Given the description of an element on the screen output the (x, y) to click on. 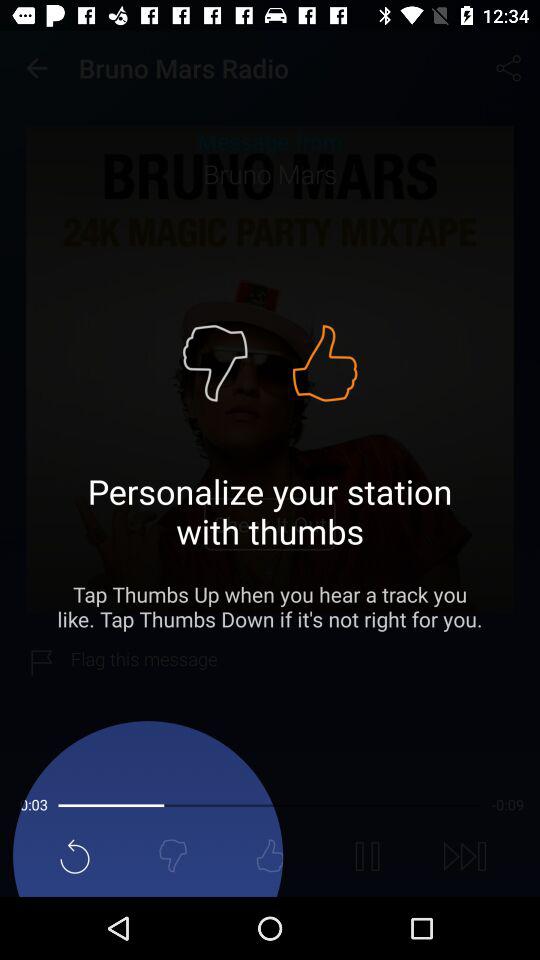
click refresh icon (74, 856)
select the dislike icon which is on the bottom (172, 856)
